Given the description of an element on the screen output the (x, y) to click on. 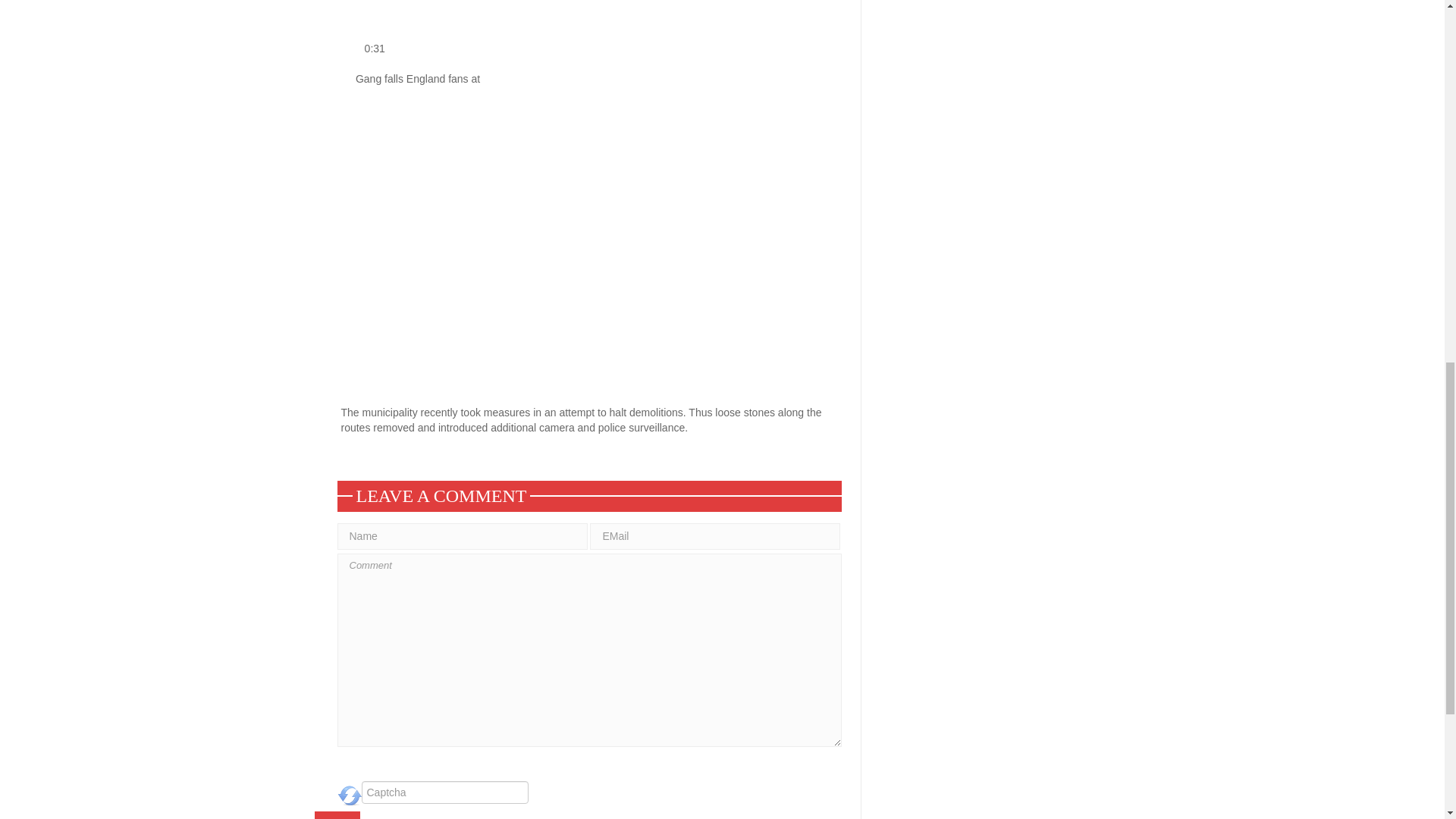
Send (336, 815)
